Given the description of an element on the screen output the (x, y) to click on. 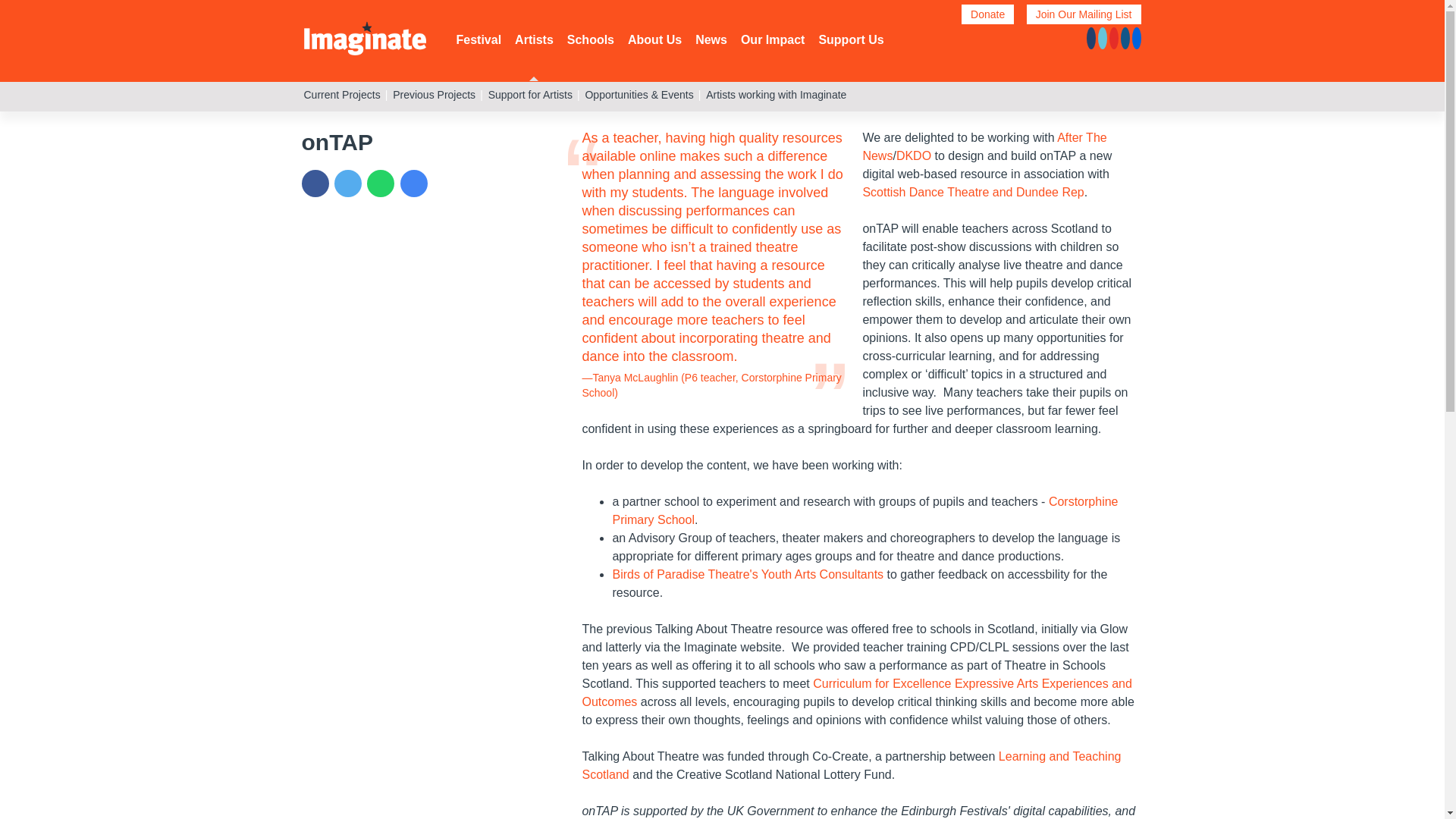
Donate (986, 14)
About Us (654, 39)
Our Impact (773, 39)
Support Us (850, 39)
Support for Artists (529, 94)
Artists working with Imaginate (775, 94)
Previous Projects (434, 94)
Festival (479, 39)
Schools (590, 39)
Artists (534, 39)
Join Our Mailing List (1083, 14)
Current Projects (341, 94)
News (710, 39)
